Given the description of an element on the screen output the (x, y) to click on. 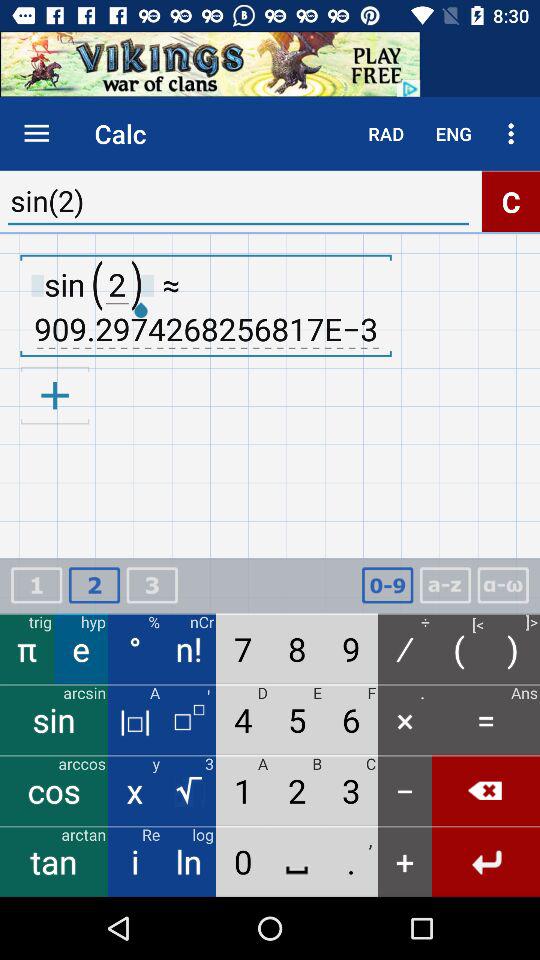
button 0-9 (387, 585)
